Given the description of an element on the screen output the (x, y) to click on. 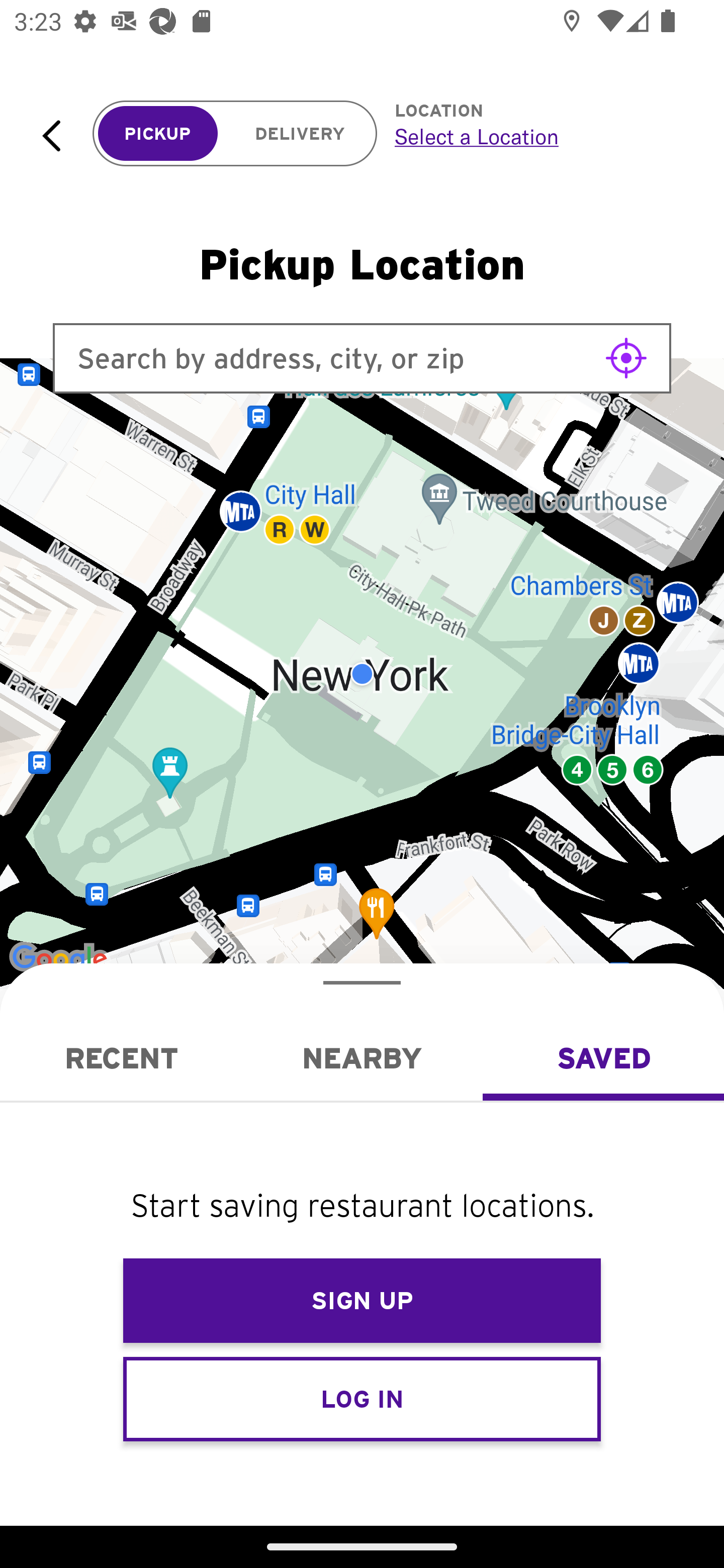
PICKUP (157, 133)
DELIVERY (299, 133)
Select a Location (536, 136)
Search by address, city, or zip (361, 358)
Google Map (362, 674)
Recent RECENT (120, 1058)
Nearby NEARBY (361, 1058)
SIGN UP (361, 1300)
LOG IN (361, 1398)
